Given the description of an element on the screen output the (x, y) to click on. 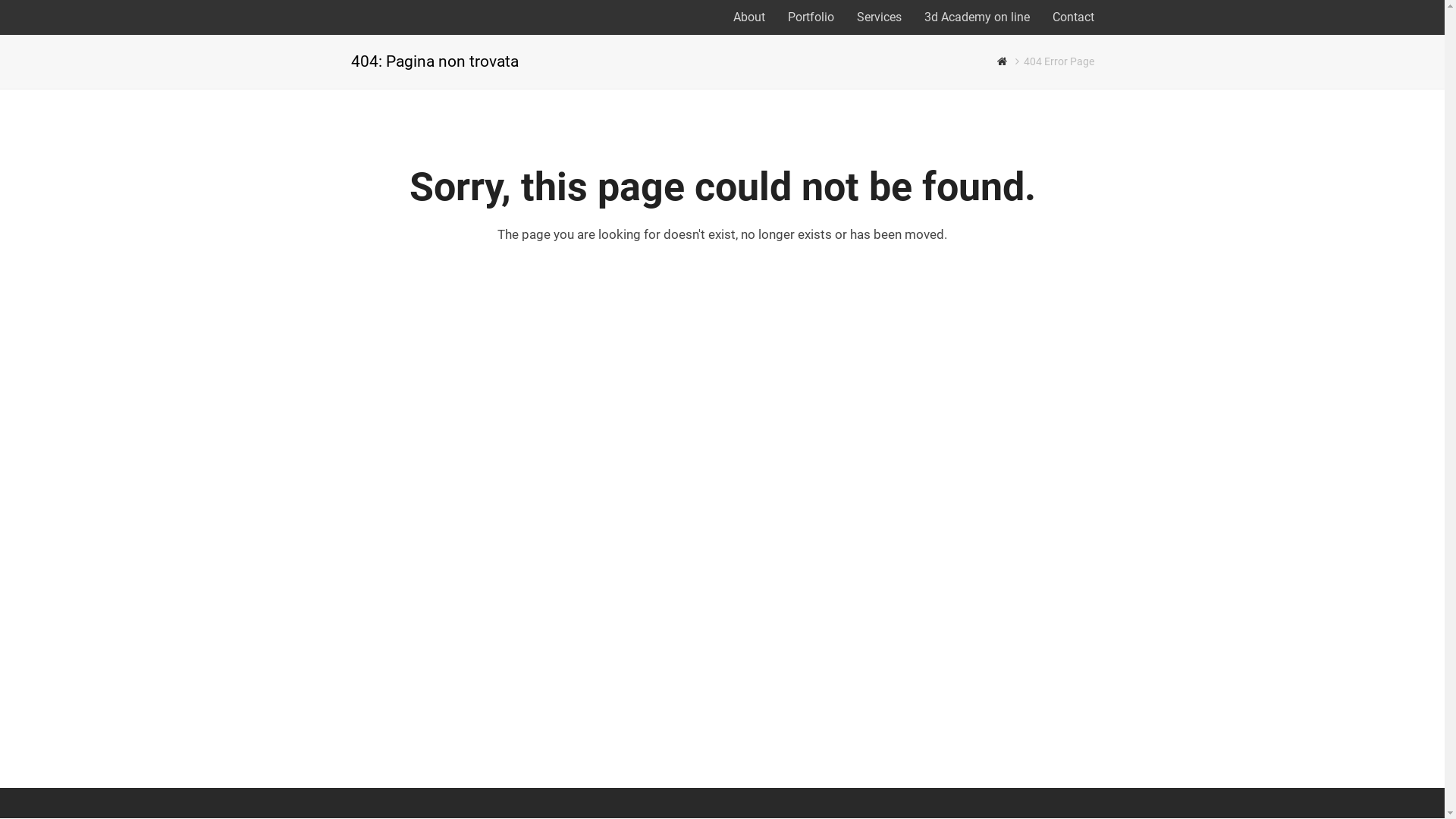
3dzooming Element type: hover (351, 16)
3dzooming Element type: hover (1003, 61)
